Given the description of an element on the screen output the (x, y) to click on. 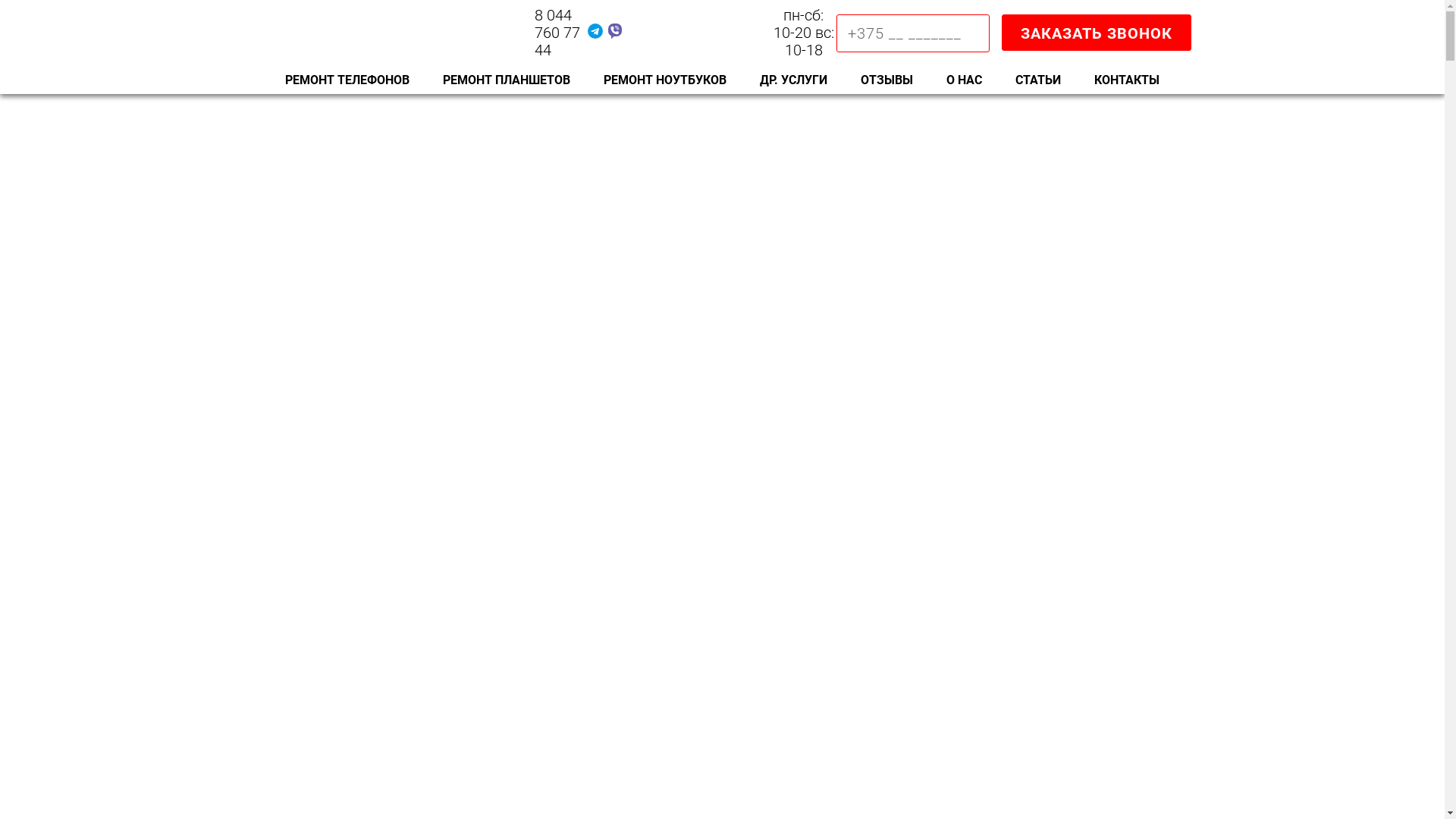
8 044 760 77 44 Element type: text (558, 32)
You are here. Element type: hover (311, 41)
